Given the description of an element on the screen output the (x, y) to click on. 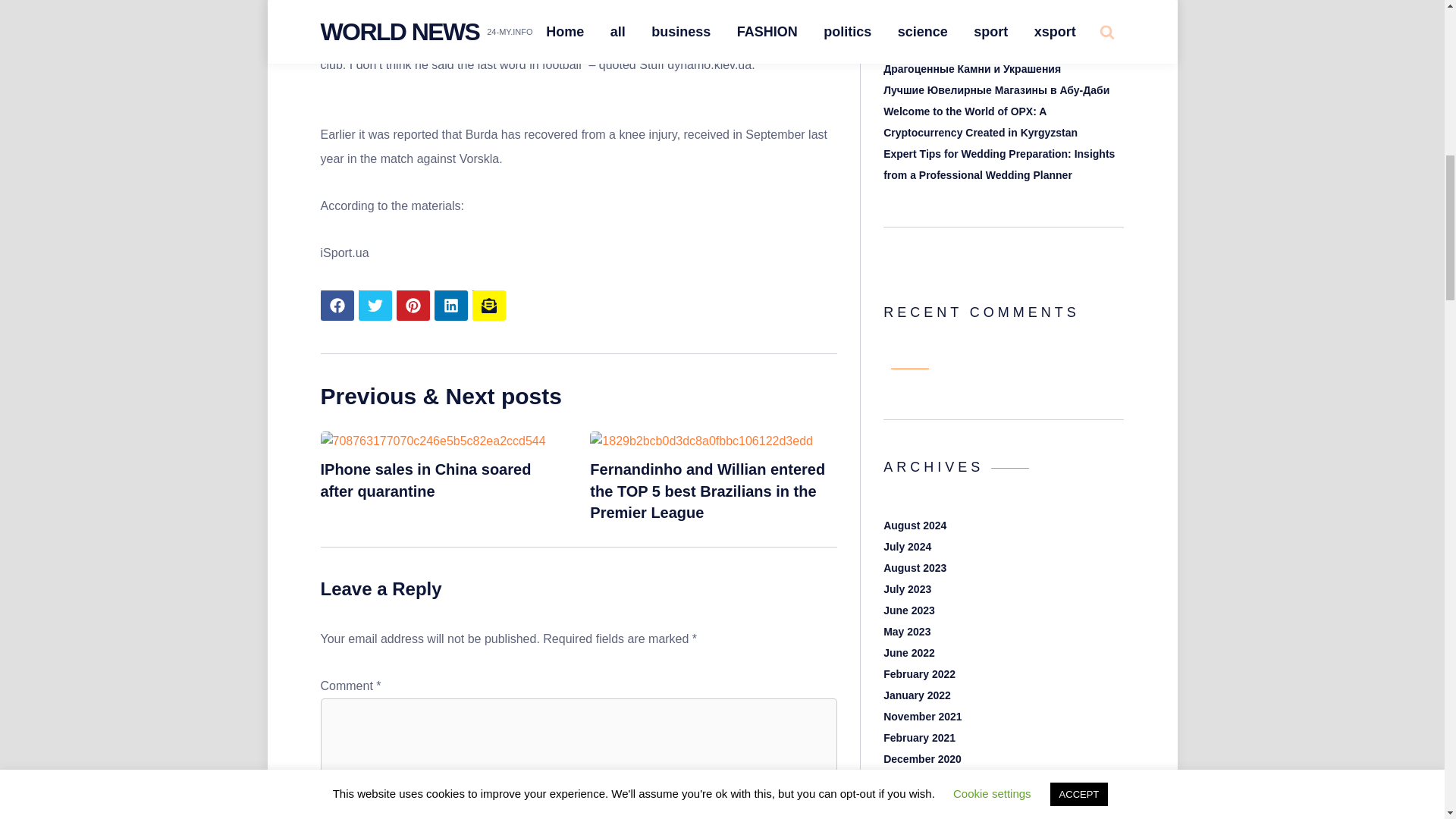
June 2023 (908, 610)
August 2024 (914, 525)
August 2023 (914, 567)
July 2023 (907, 589)
July 2024 (907, 546)
IPhone sales in China soared after quarantine (425, 480)
